Given the description of an element on the screen output the (x, y) to click on. 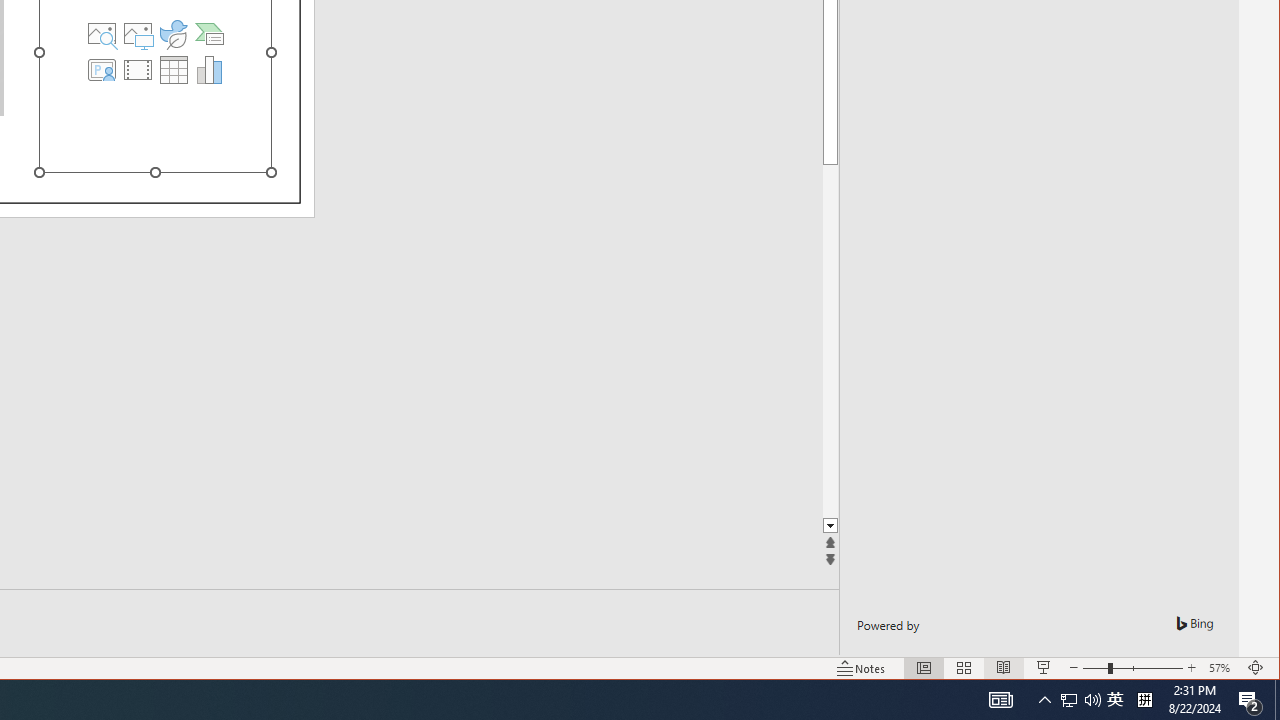
Show desktop (1277, 699)
AutomationID: 4105 (1069, 699)
Insert Video (1000, 699)
Stock Images (137, 69)
Tray Input Indicator - Chinese (Simplified, China) (101, 33)
Page down (1144, 699)
Action Center, 2 new notifications (910, 340)
Notification Chevron (1250, 699)
